Given the description of an element on the screen output the (x, y) to click on. 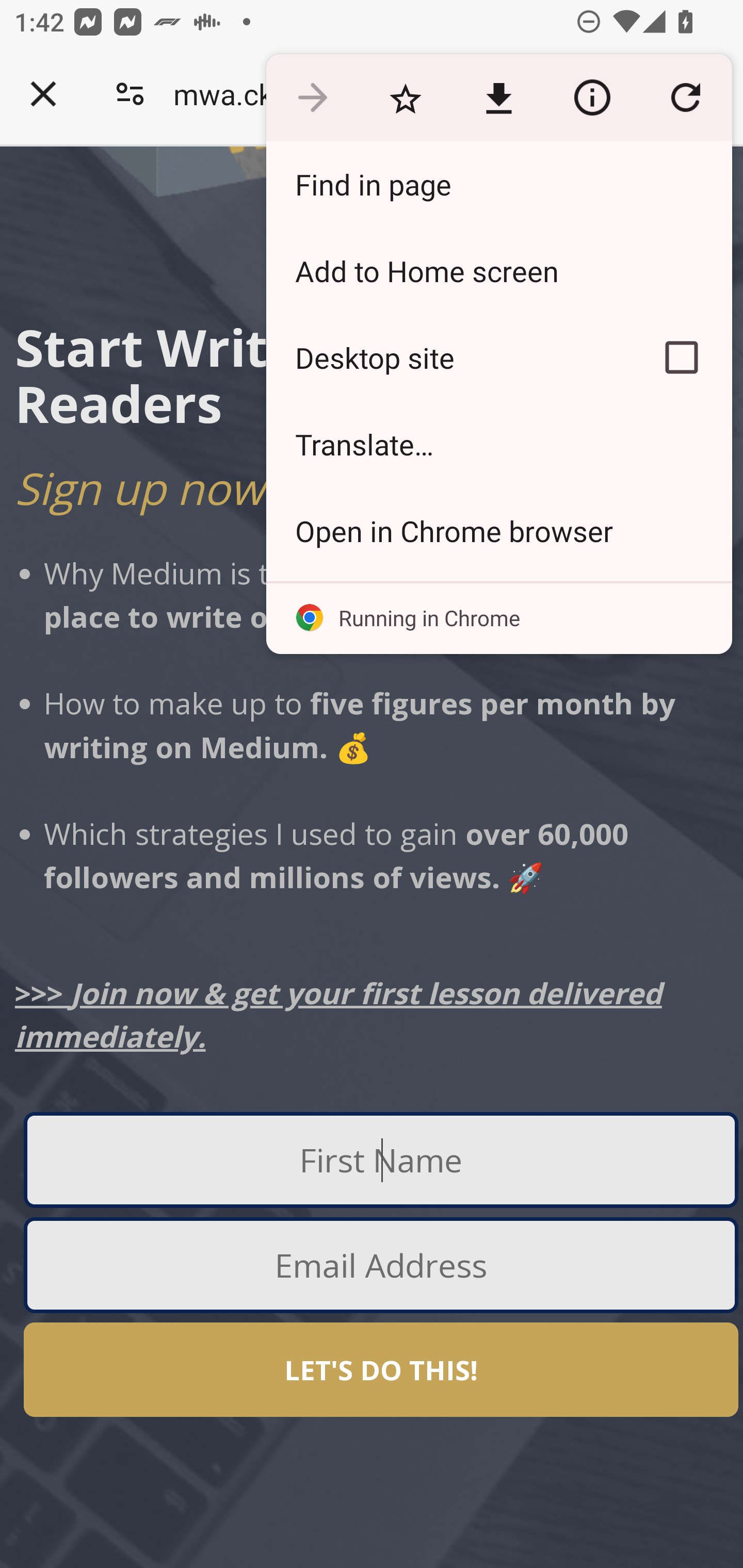
Go forward (311, 97)
Bookmark (404, 97)
Download this page (498, 97)
View site information (591, 97)
Refresh (684, 97)
Find in page (498, 184)
Add to Home screen (498, 270)
Desktop site Turn on Request desktop site (447, 357)
Translate… (498, 444)
Open in Chrome browser (498, 530)
